Given the description of an element on the screen output the (x, y) to click on. 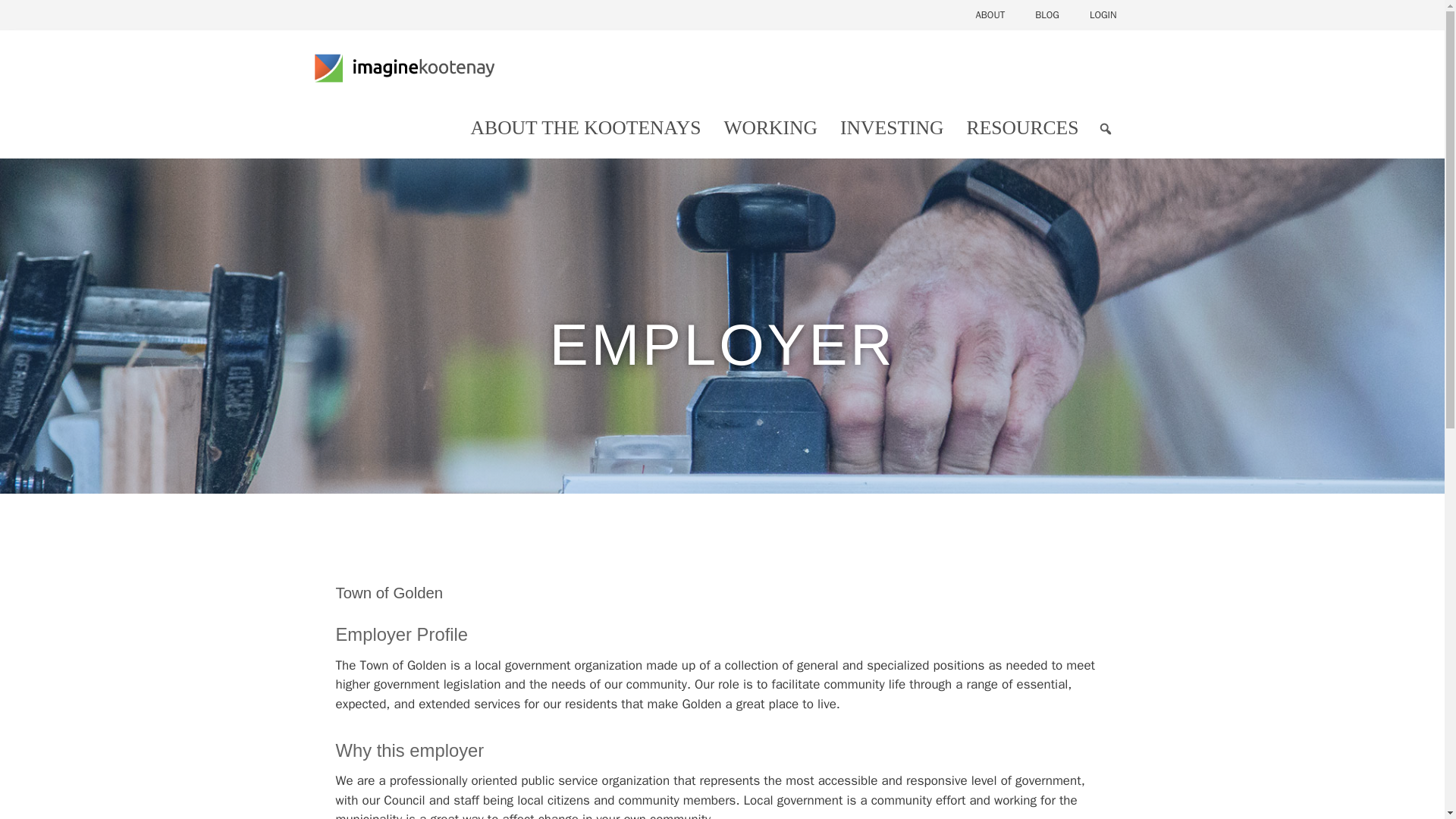
INVESTING (891, 127)
LOGIN (1103, 15)
ABOUT THE KOOTENAYS (586, 127)
BLOG (1047, 15)
ABOUT (989, 15)
WORKING (770, 127)
